Given the description of an element on the screen output the (x, y) to click on. 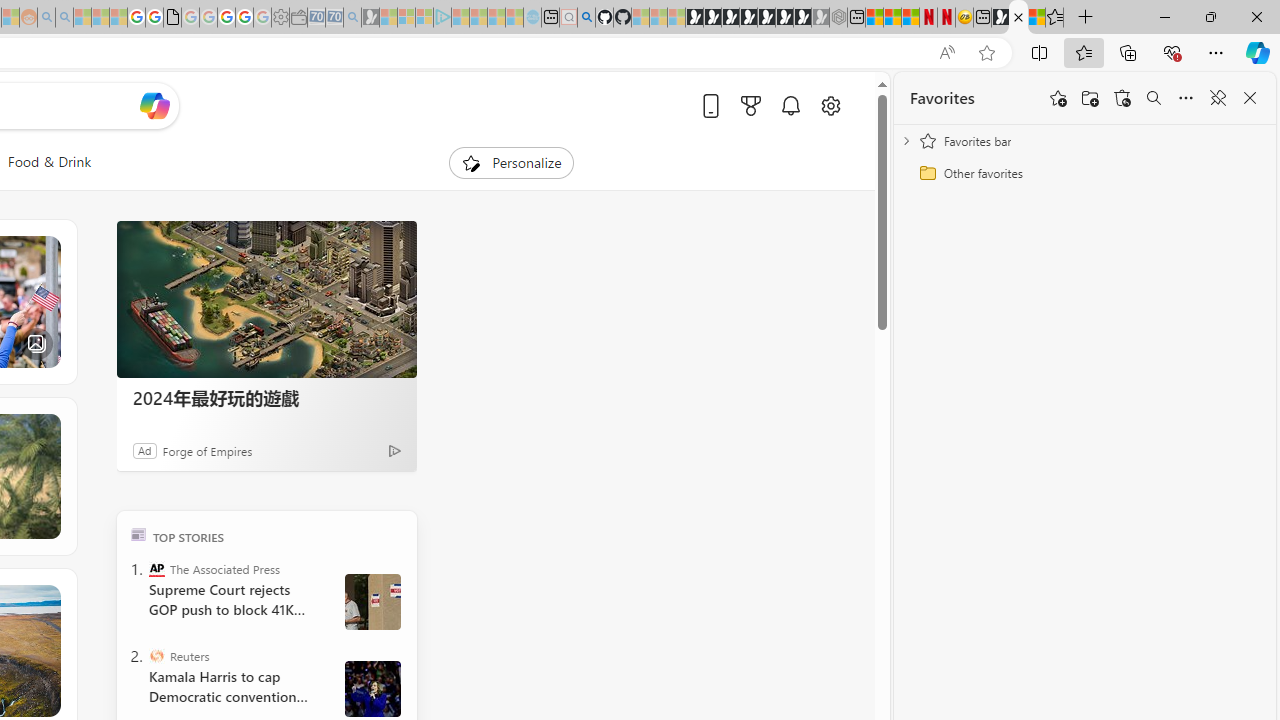
Microsoft rewards (749, 105)
Food & Drink (49, 162)
Add this page to favorites (1058, 98)
Play Cave FRVR in your browser | Games from Microsoft Start (729, 17)
